Given the description of an element on the screen output the (x, y) to click on. 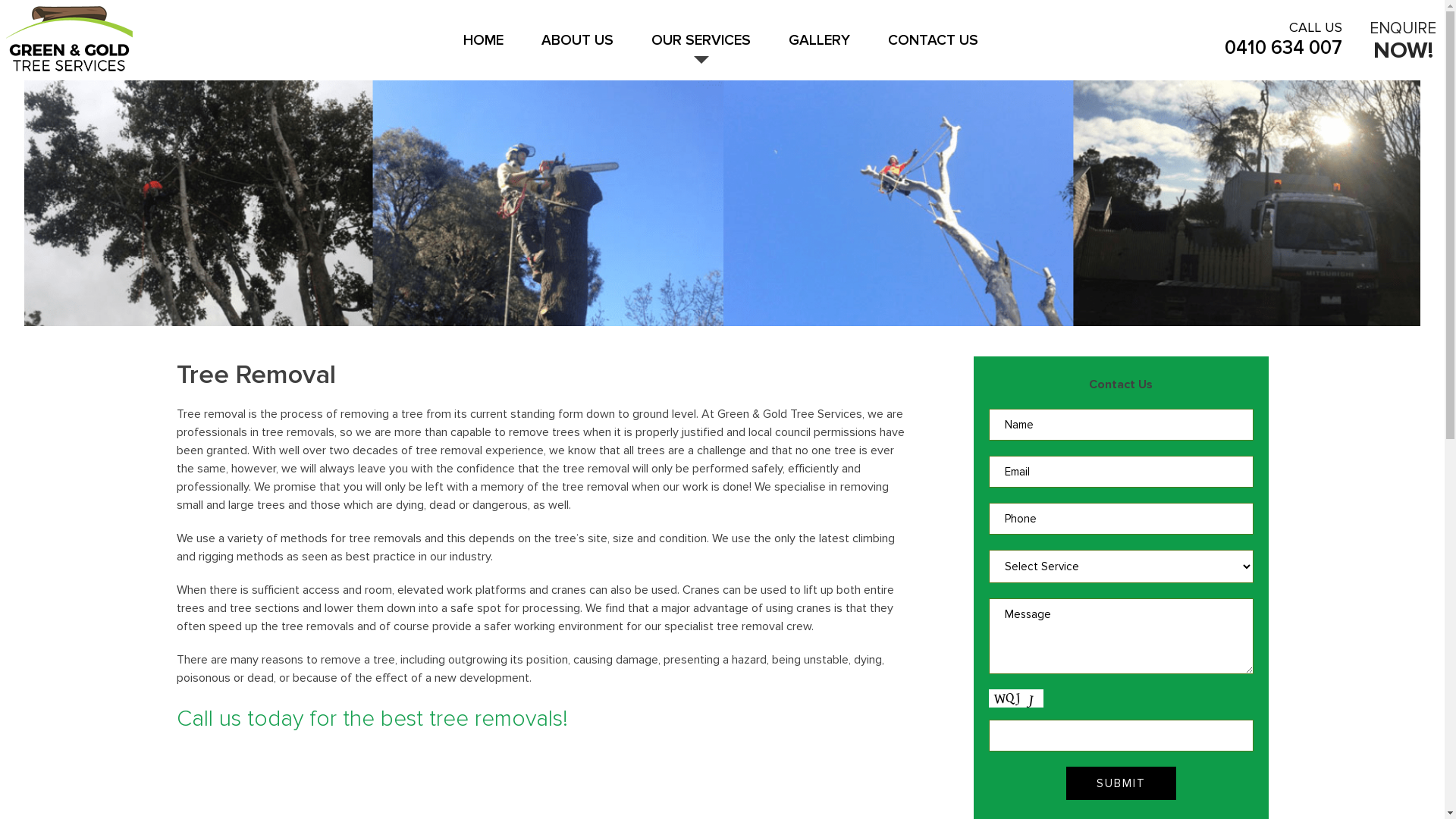
GALLERY Element type: text (819, 46)
SUBMIT Element type: text (1121, 783)
OUR SERVICES Element type: text (700, 46)
HOME Element type: text (483, 46)
ABOUT US Element type: text (577, 46)
CONTACT US Element type: text (933, 46)
0410 634 007 Element type: text (1283, 47)
